Given the description of an element on the screen output the (x, y) to click on. 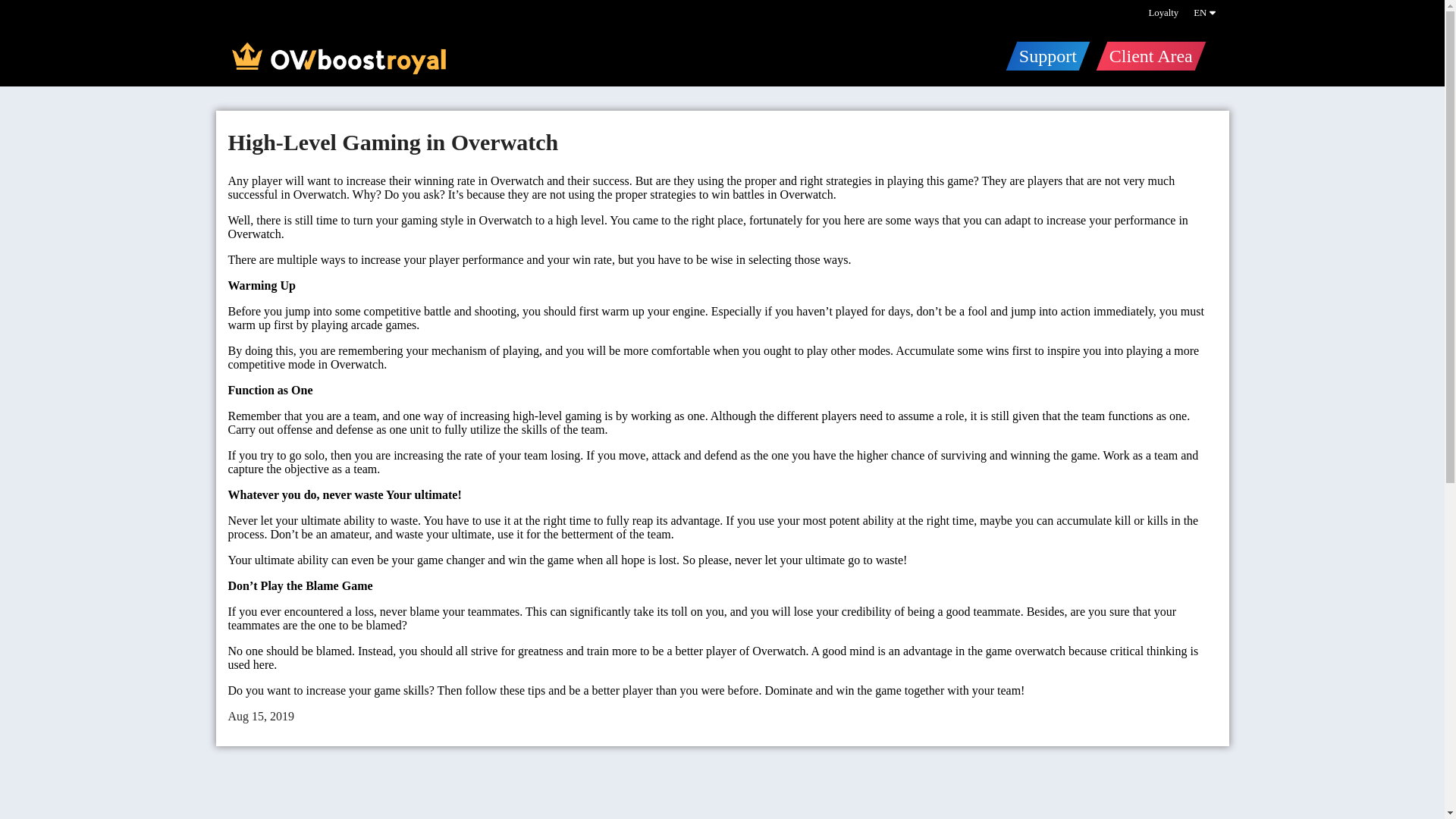
Overwatch boosting (337, 57)
Loyalty (1162, 12)
Client Area (1144, 54)
Support (1042, 54)
